Given the description of an element on the screen output the (x, y) to click on. 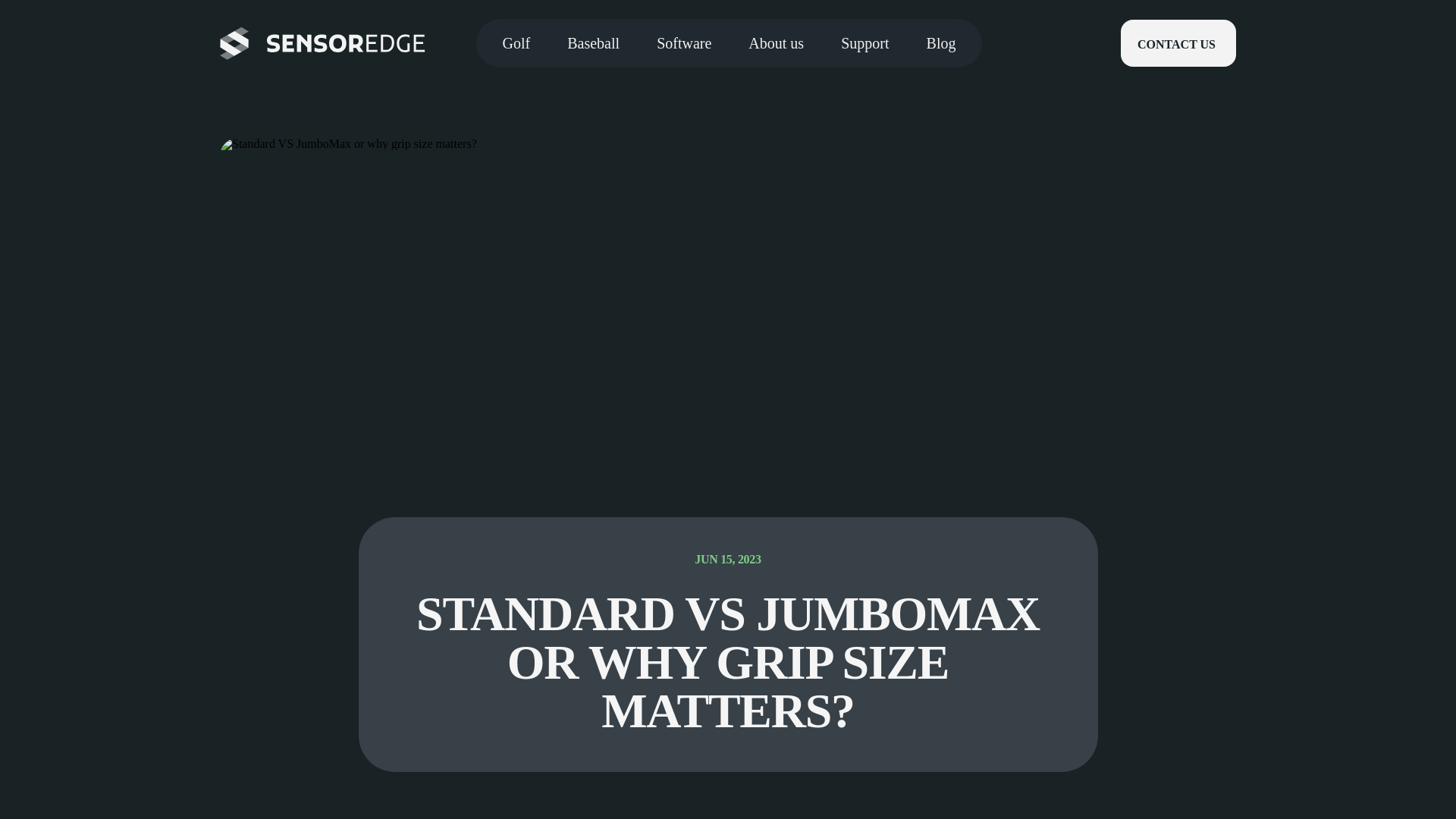
About us (776, 42)
Blog (941, 42)
CONTACT US (1178, 42)
Golf (516, 42)
Support (864, 42)
Baseball (593, 42)
Software (684, 42)
